Given the description of an element on the screen output the (x, y) to click on. 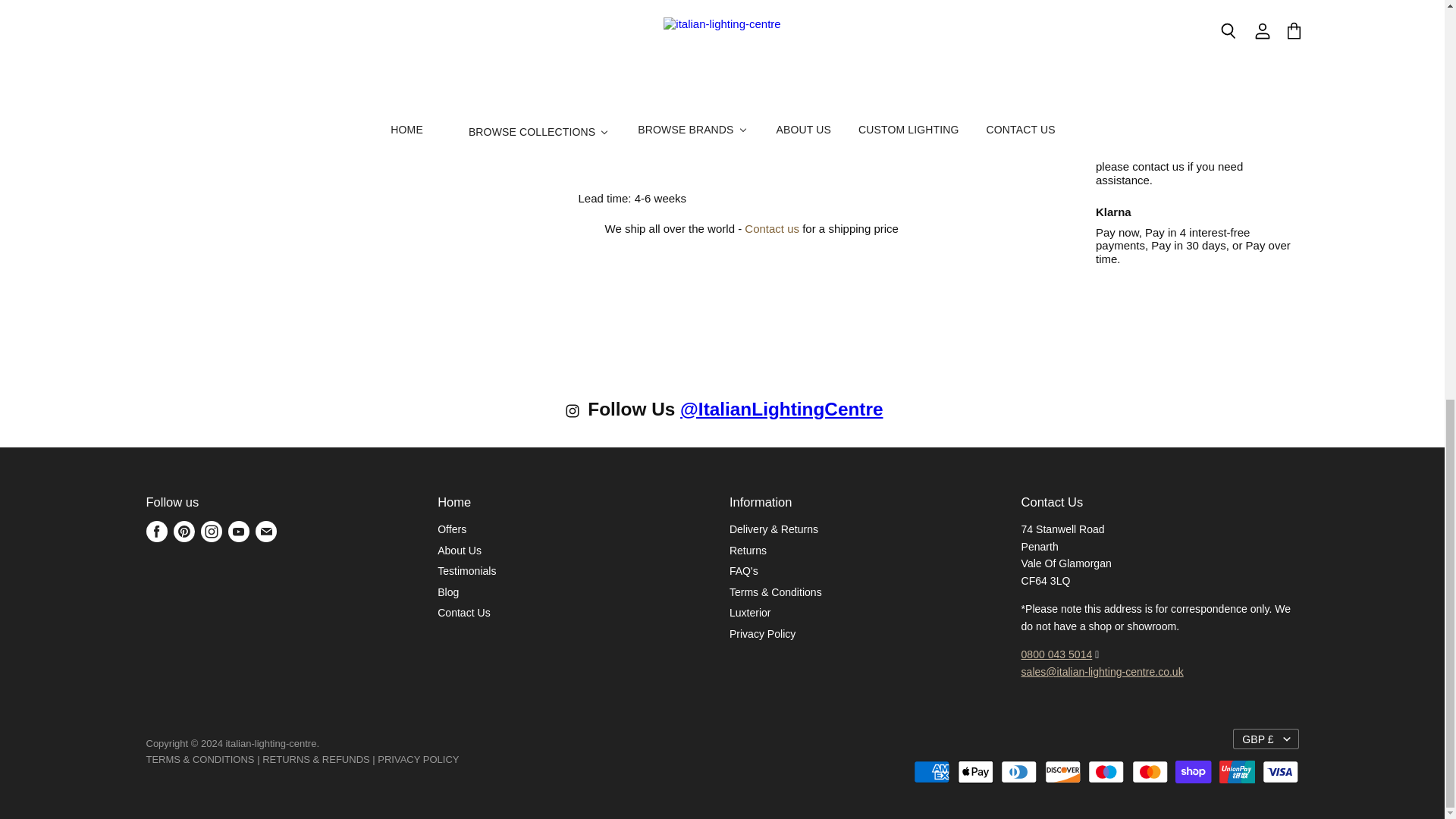
Facebook (156, 531)
E-mail (265, 531)
Youtube (237, 531)
Instagram (575, 414)
Instagram (210, 531)
Pinterest (183, 531)
